Given the description of an element on the screen output the (x, y) to click on. 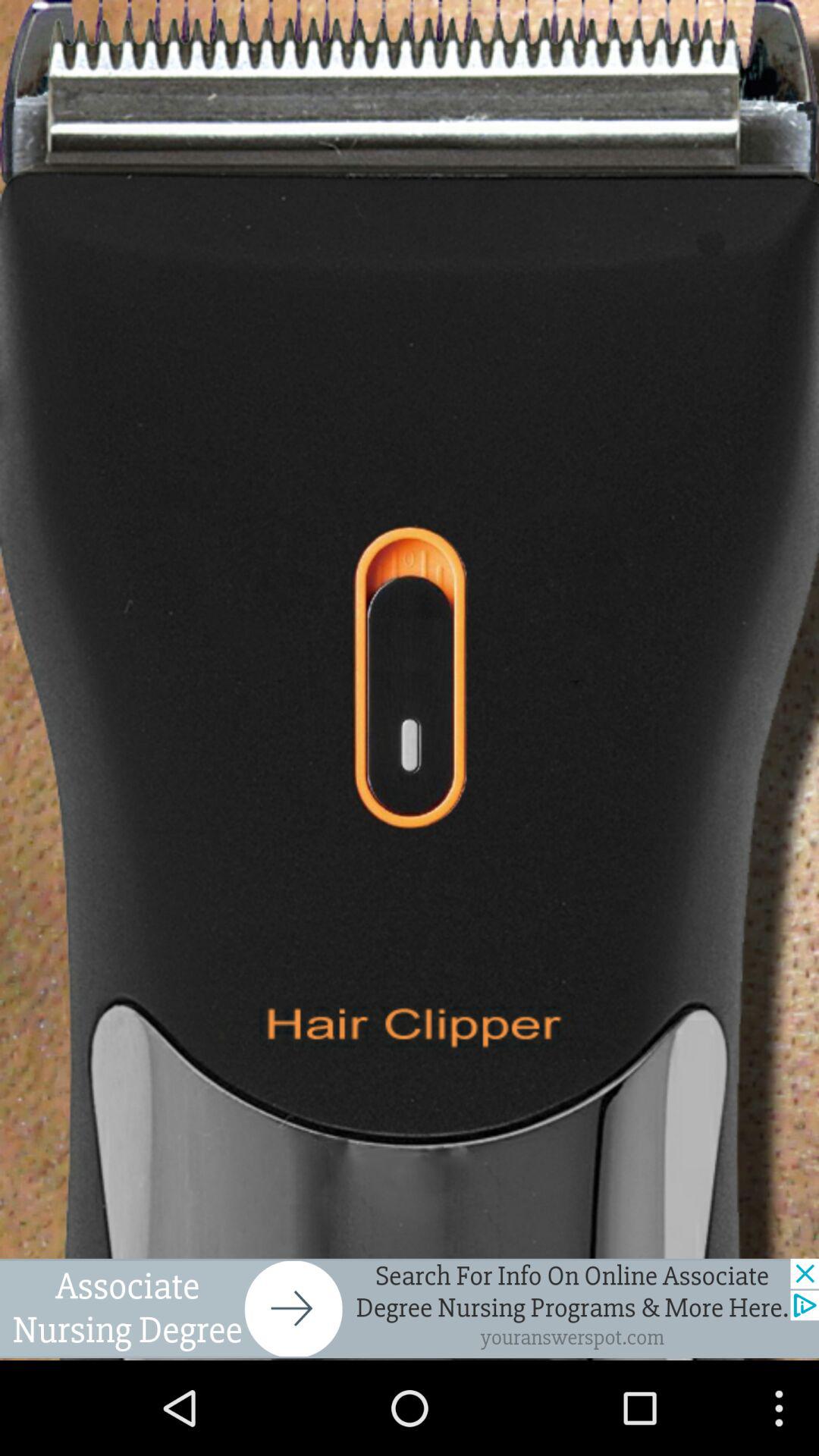
open advertisement (409, 1308)
